Given the description of an element on the screen output the (x, y) to click on. 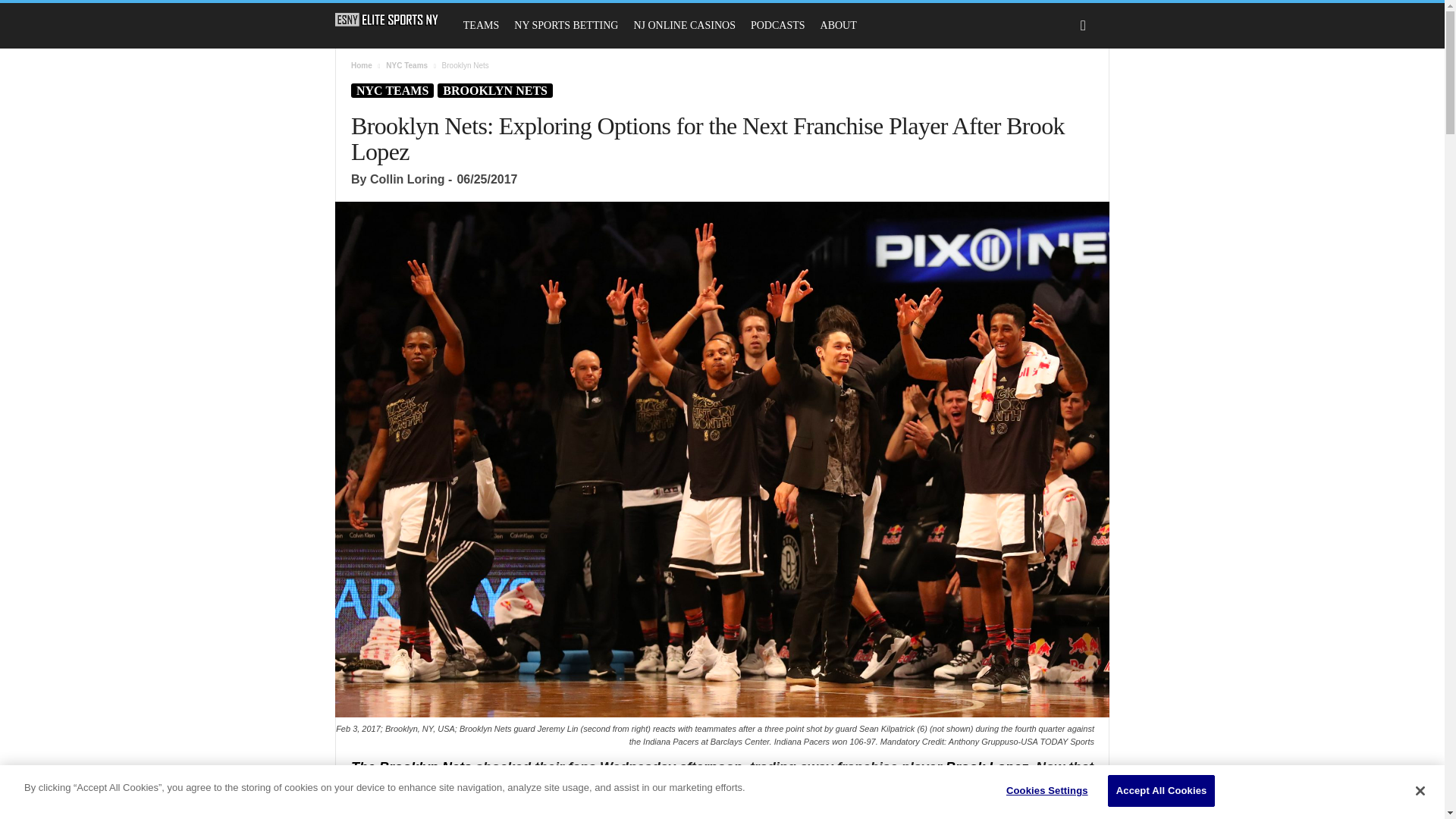
View all posts in NYC Teams (406, 65)
Elite Sports NY (394, 19)
Elite Sports NY (386, 19)
TEAMS (480, 25)
